Given the description of an element on the screen output the (x, y) to click on. 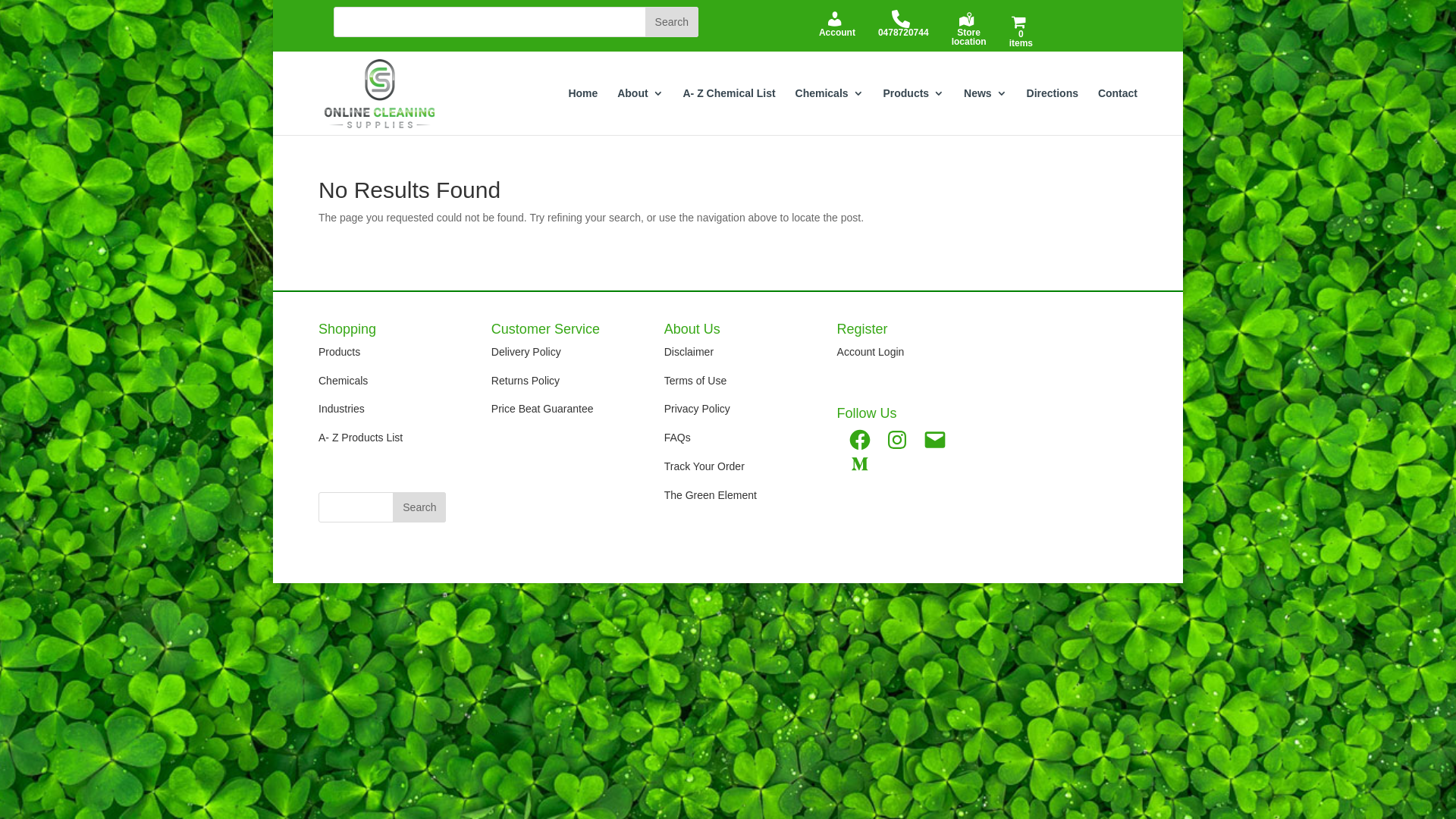
Search Element type: text (418, 507)
Facebook Element type: text (859, 439)
Search Element type: text (671, 21)
Privacy Policy Element type: text (697, 408)
FAQs Element type: text (677, 437)
A- Z Products List Element type: text (360, 437)
Track Your Order Element type: text (704, 466)
Price Beat Guarantee Element type: text (542, 408)
A- Z Chemical List Element type: text (728, 110)
Home Element type: text (582, 110)
Store location Element type: text (968, 31)
0 items Element type: text (1020, 33)
Products Element type: text (339, 351)
Contact Element type: text (1117, 110)
Terms of Use Element type: text (695, 380)
Account Login  Element type: text (872, 351)
Account Element type: text (837, 26)
Chemicals Element type: text (829, 110)
Directions Element type: text (1052, 110)
Instagram Element type: text (896, 439)
Products Element type: text (913, 110)
Delivery Policy Element type: text (526, 351)
Medium Element type: text (859, 463)
About Element type: text (639, 110)
Disclaimer Element type: text (688, 351)
Returns Policy Element type: text (525, 380)
Chemicals Element type: text (342, 380)
News Element type: text (985, 110)
Email Element type: text (934, 439)
0478720744 Element type: text (903, 26)
Industries Element type: text (341, 408)
The Green Element Element type: text (710, 495)
